Given the description of an element on the screen output the (x, y) to click on. 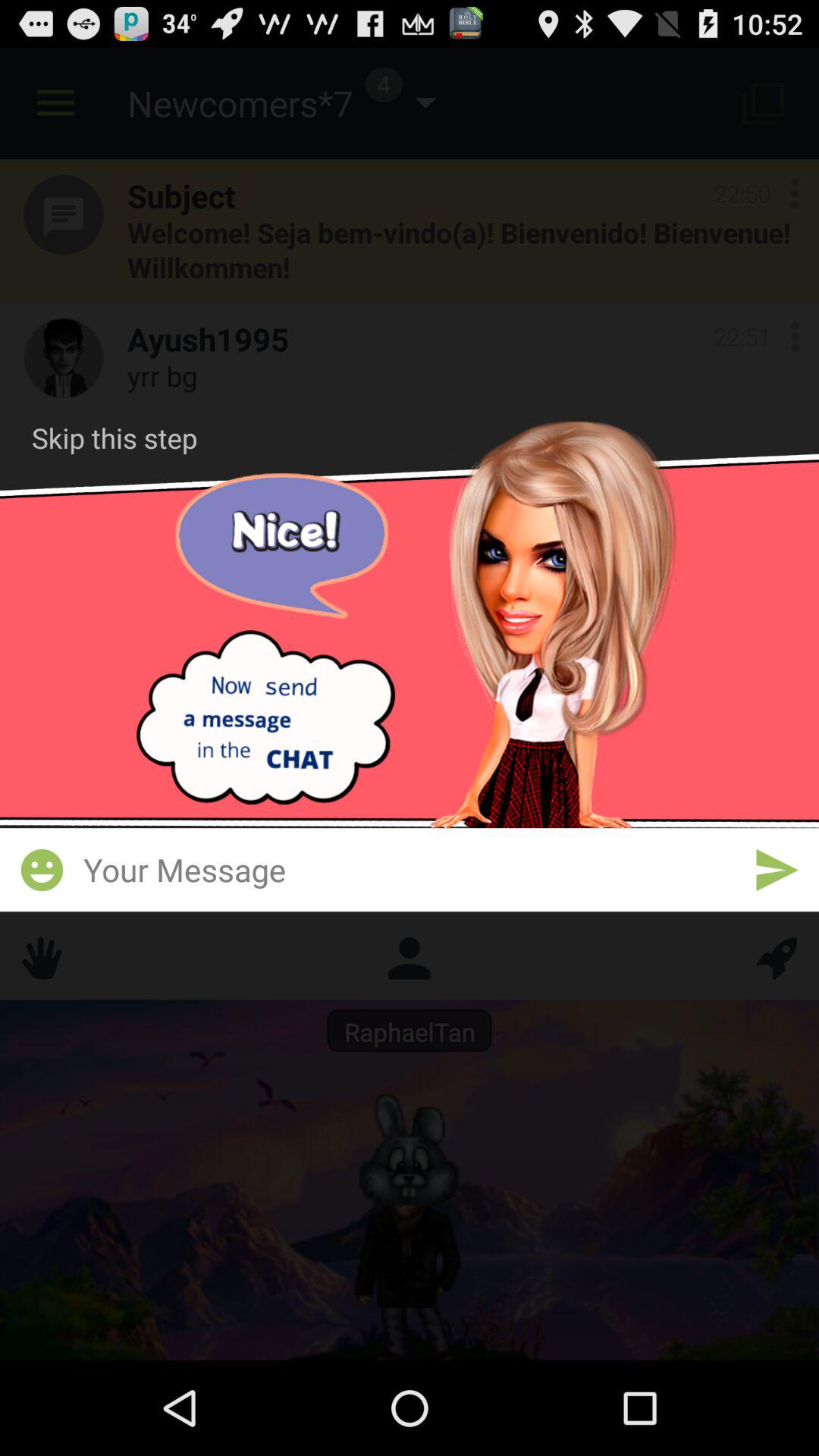
flip to the skip this step (114, 437)
